Given the description of an element on the screen output the (x, y) to click on. 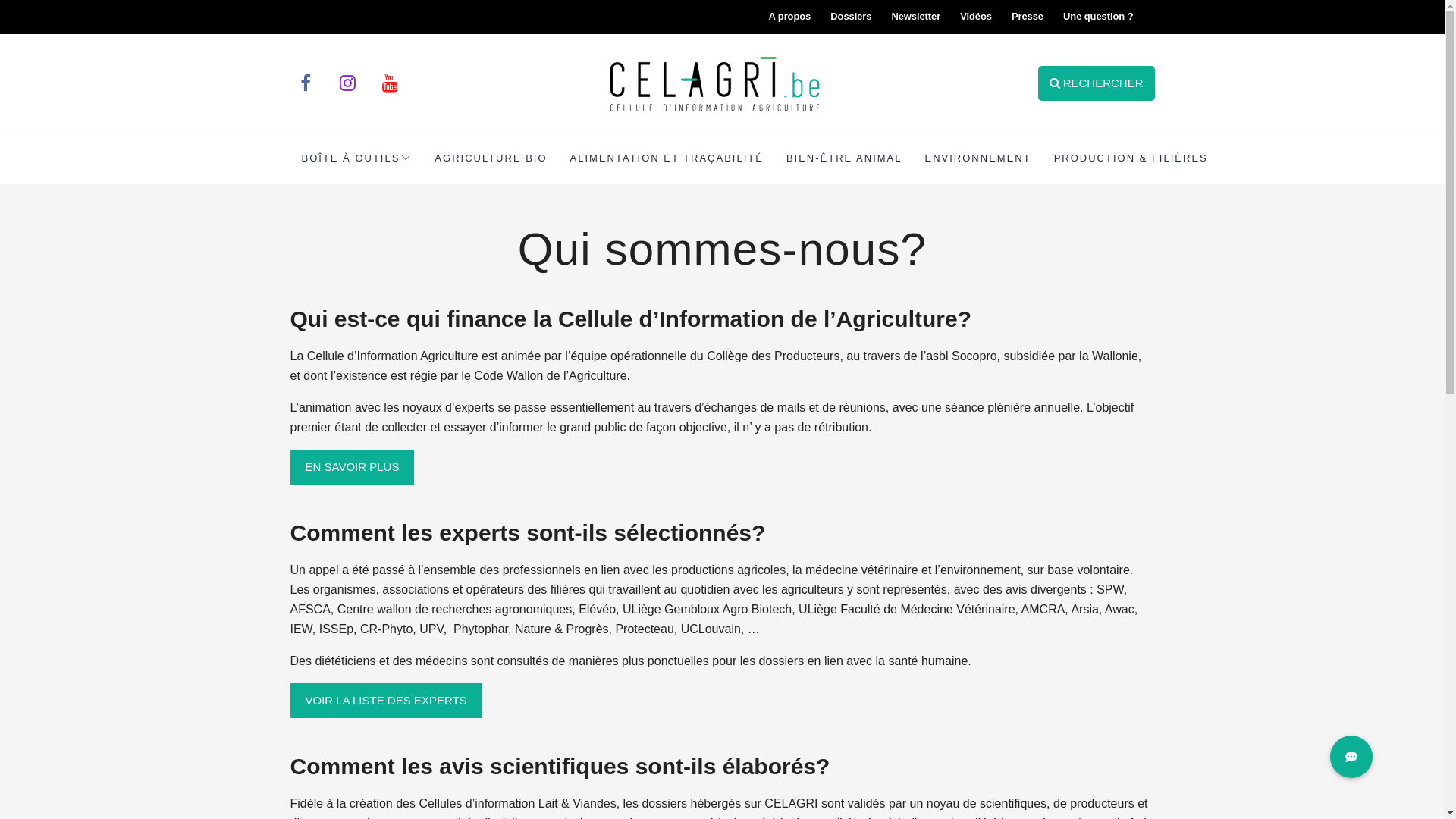
Dossiers Element type: text (850, 16)
EN SAVOIR PLUS Element type: text (351, 466)
AGRICULTURE BIO Element type: text (490, 158)
ENVIRONNEMENT Element type: text (977, 158)
A propos Element type: text (789, 16)
Social item Element type: hover (390, 83)
VOIR LA LISTE DES EXPERTS Element type: text (385, 700)
RECHERCHER Element type: text (1095, 82)
Newsletter Element type: text (915, 16)
Presse Element type: text (1027, 16)
Social item Element type: hover (305, 83)
Une question ? Element type: text (1098, 16)
Social item Element type: hover (347, 83)
